Given the description of an element on the screen output the (x, y) to click on. 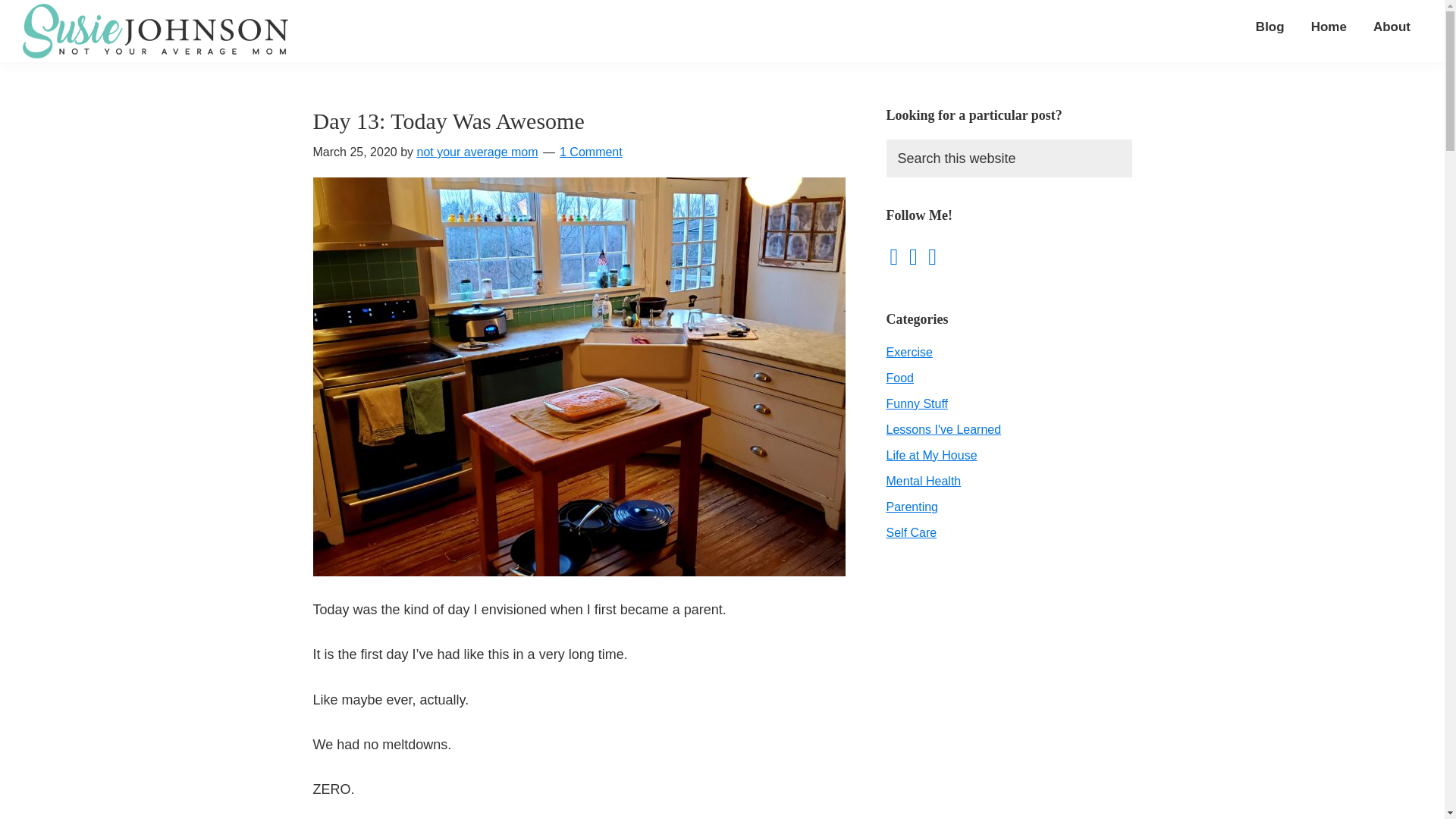
1 Comment (591, 151)
Food (898, 377)
Parenting (911, 506)
not your average mom (476, 151)
Life at My House (930, 454)
Exercise (908, 351)
